Given the description of an element on the screen output the (x, y) to click on. 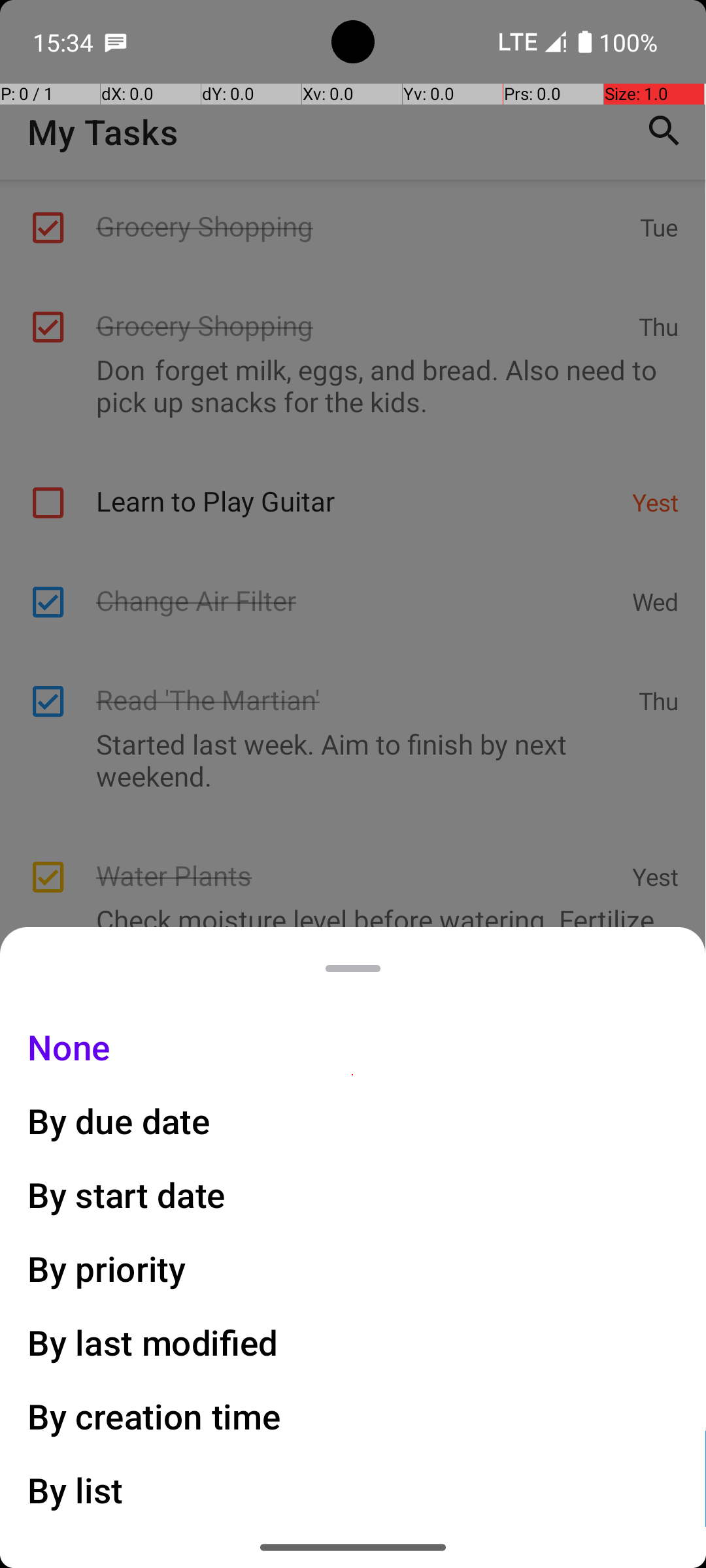
Drag handle Element type: android.view.View (352, 968)
By due date Element type: android.widget.TextView (119, 1120)
By start date Element type: android.widget.TextView (126, 1194)
By priority Element type: android.widget.TextView (106, 1268)
By last modified Element type: android.widget.TextView (152, 1342)
By creation time Element type: android.widget.TextView (154, 1415)
By list Element type: android.widget.TextView (75, 1489)
